Given the description of an element on the screen output the (x, y) to click on. 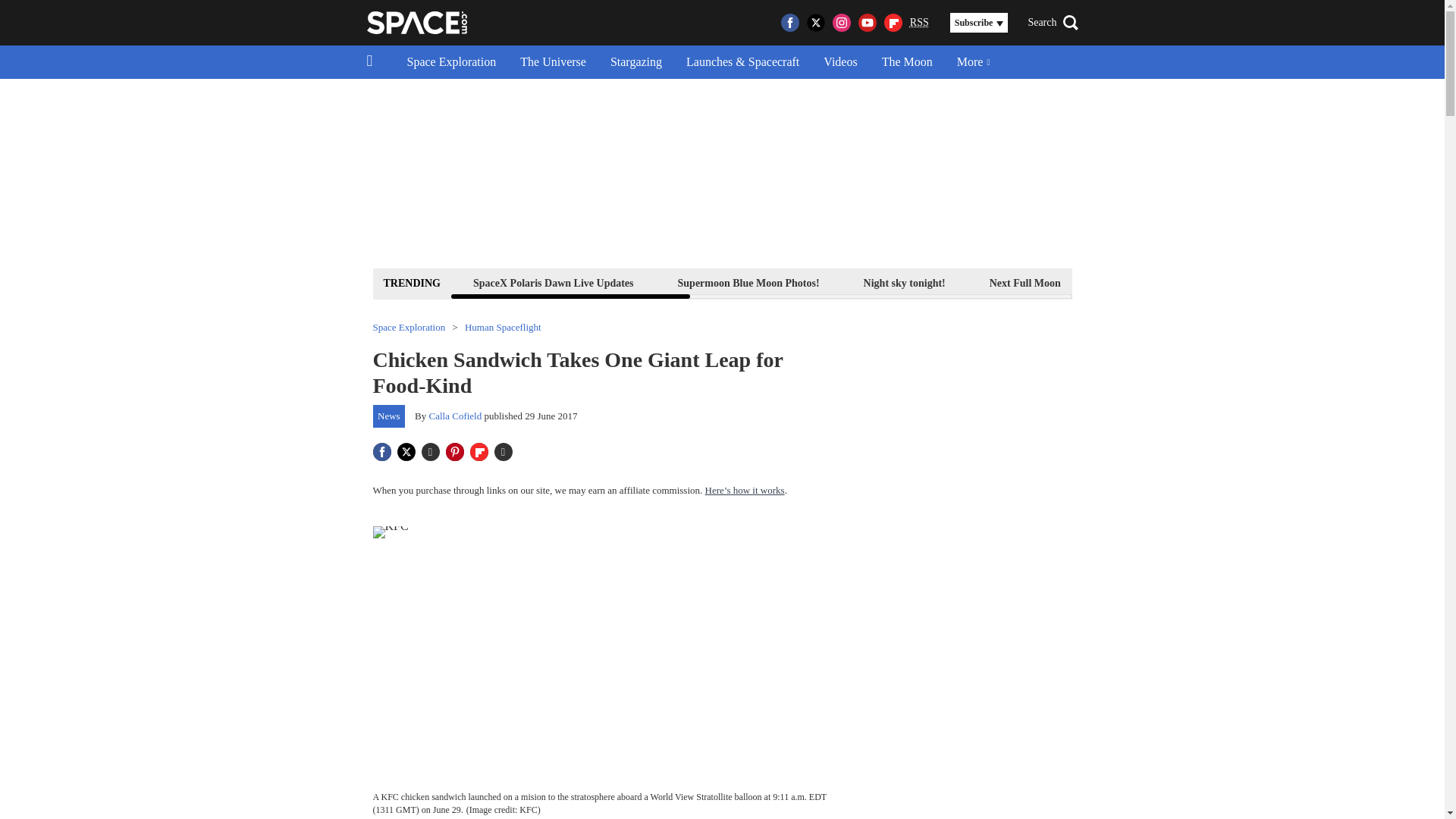
Stargazing (636, 61)
Best Telescopes (1139, 282)
SpaceX Polaris Dawn Live Updates (553, 282)
Space Exploration (451, 61)
Night sky tonight! (904, 282)
Next Full Moon (1024, 282)
RSS (919, 22)
Best Star Projectors (1378, 282)
Supermoon Blue Moon Photos! (748, 282)
The Universe (553, 61)
